Given the description of an element on the screen output the (x, y) to click on. 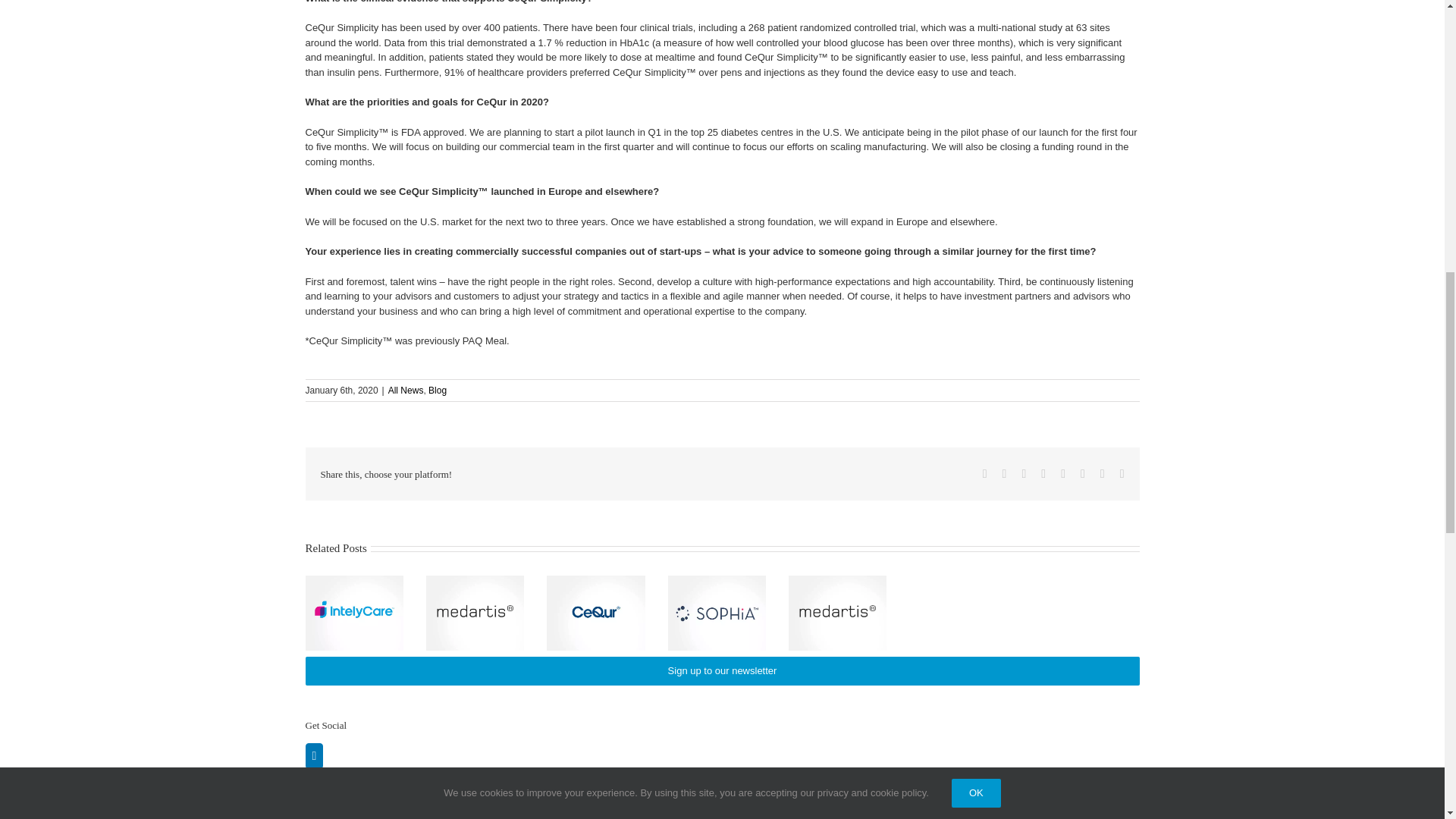
All News (405, 389)
Blog (437, 389)
